Given the description of an element on the screen output the (x, y) to click on. 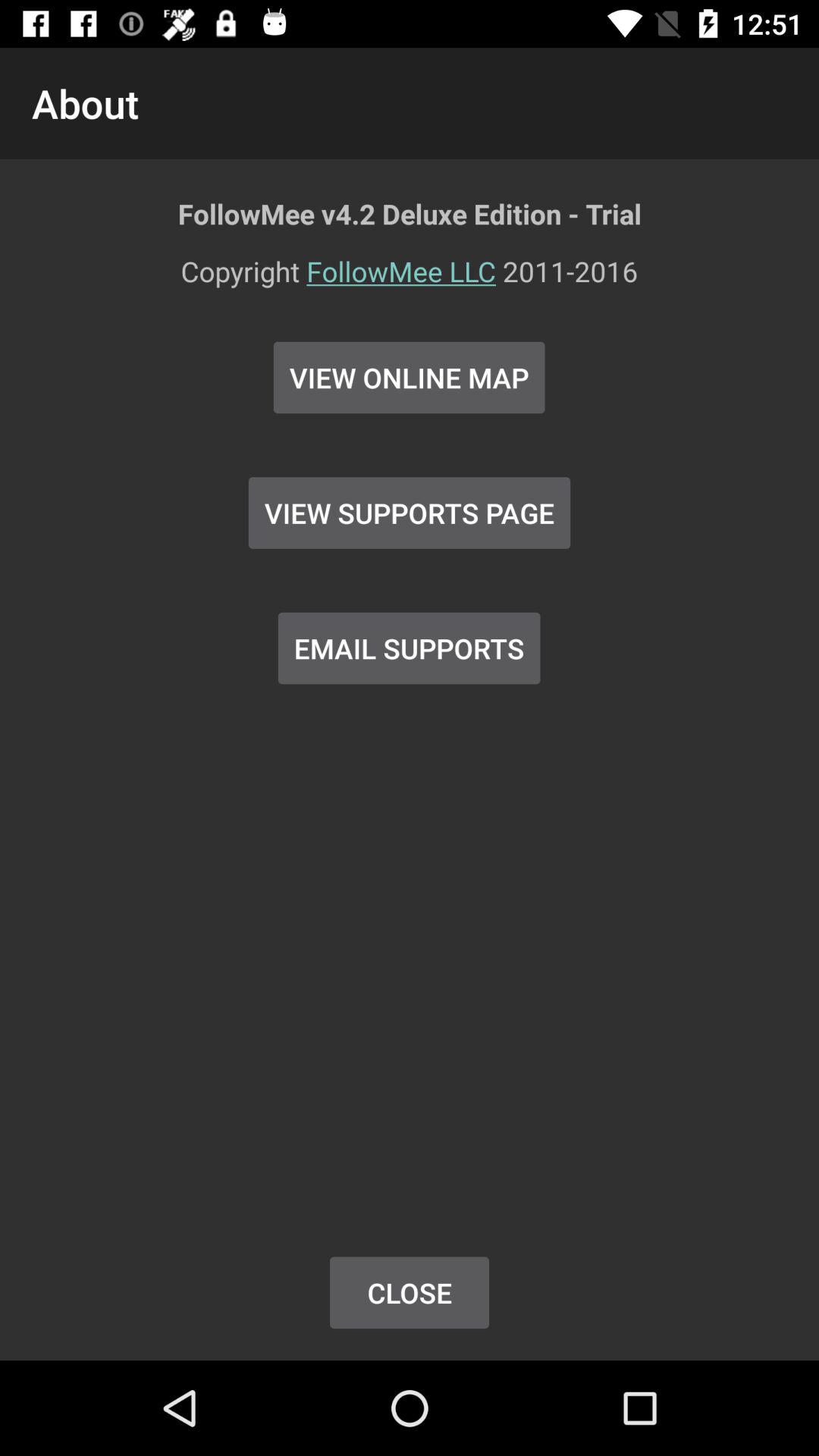
turn on the close (409, 1292)
